Given the description of an element on the screen output the (x, y) to click on. 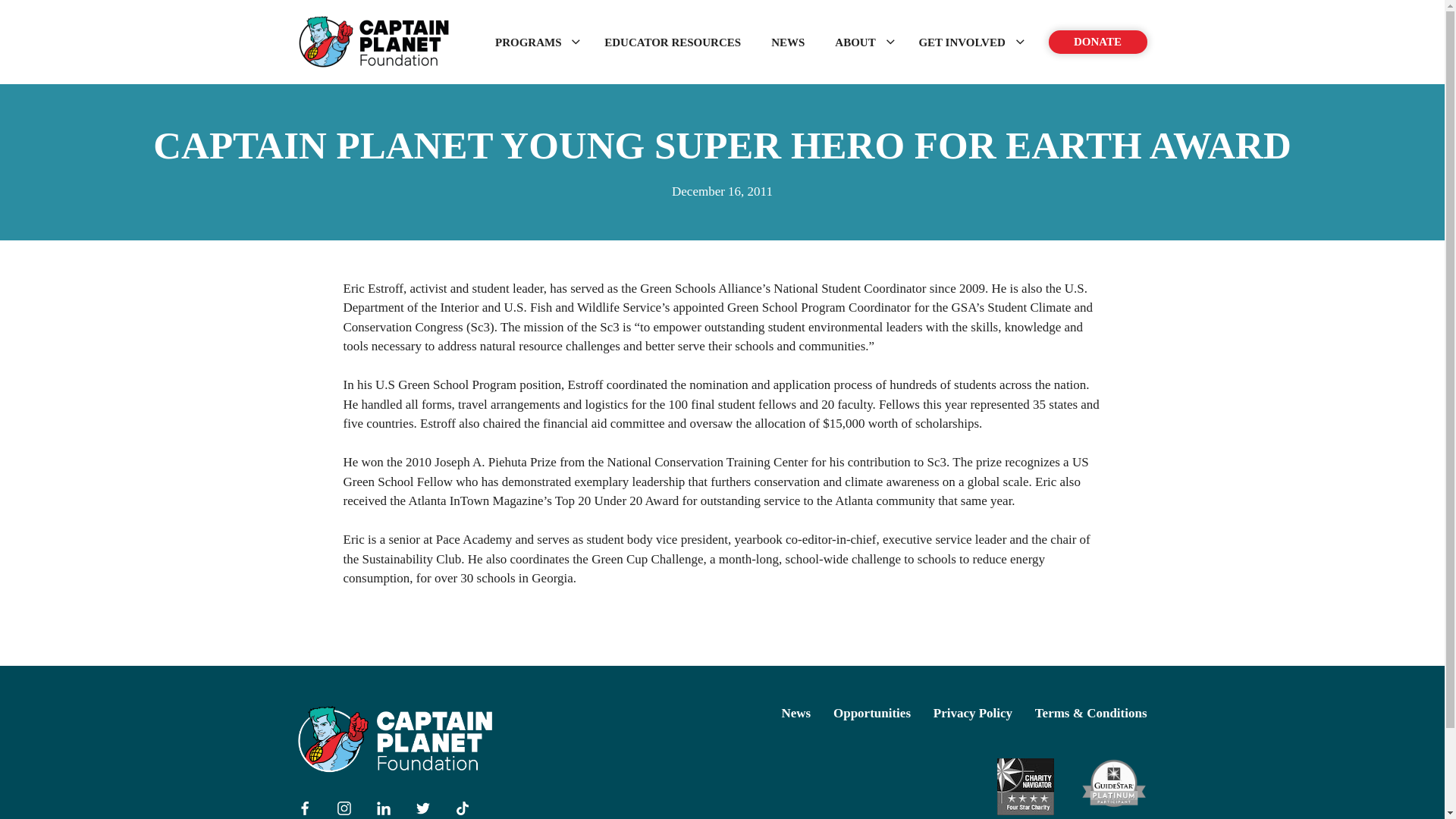
ABOUT (860, 42)
Opportunities (871, 712)
EDUCATOR RESOURCES (672, 42)
Privacy Policy (972, 712)
GET INVOLVED (967, 42)
DONATE (1097, 42)
NEWS (787, 42)
PROGRAMS (534, 42)
News (795, 712)
